Given the description of an element on the screen output the (x, y) to click on. 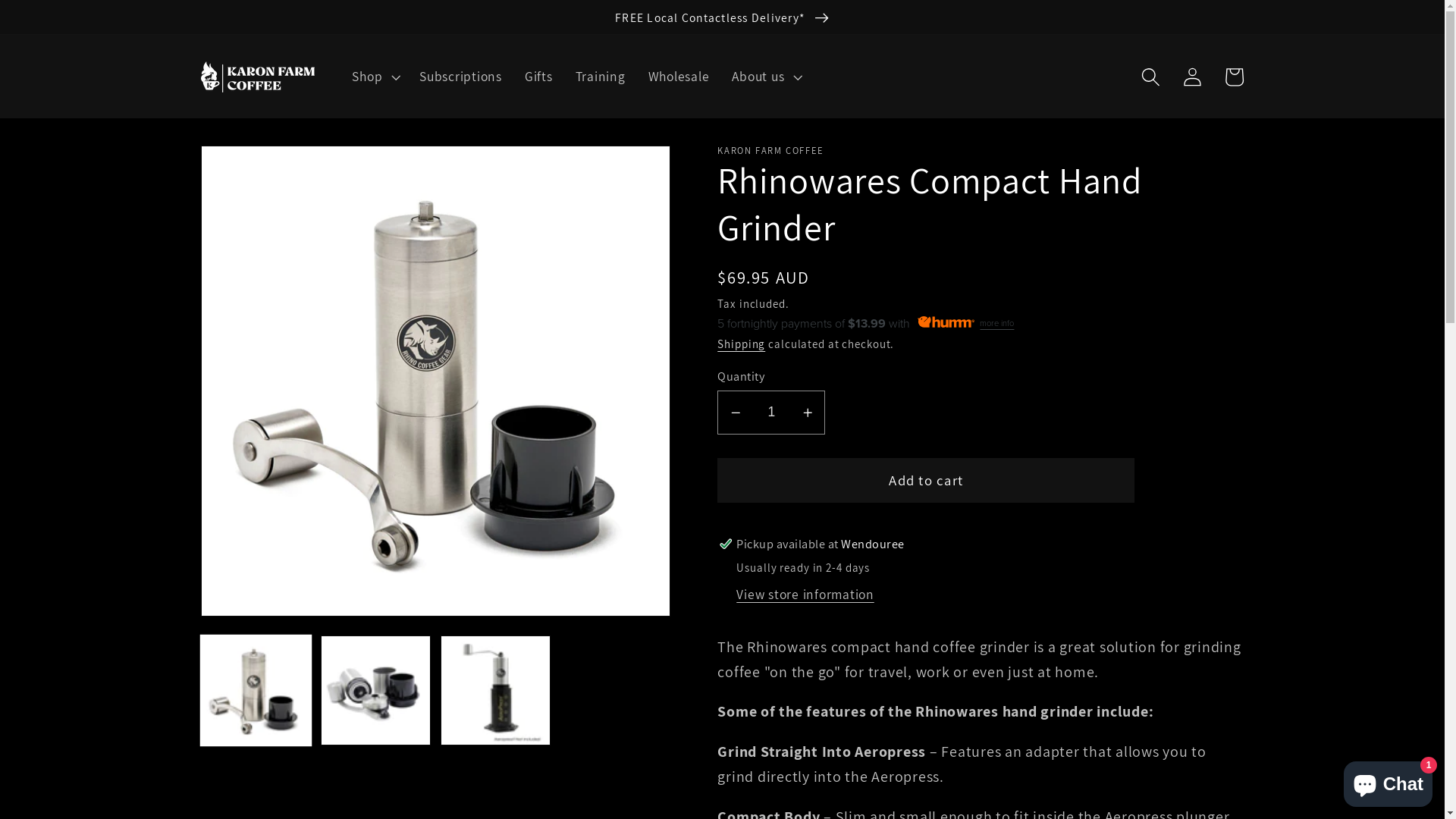
Shipping Element type: text (741, 343)
Decrease quantity for Rhinowares Compact Hand Grinder Element type: text (735, 412)
Gifts Element type: text (538, 76)
Log in Element type: text (1192, 76)
Wholesale Element type: text (679, 76)
Add to cart Element type: text (925, 480)
5 fortnightly payments of $13.99 with more info Element type: text (980, 323)
Cart Element type: text (1234, 76)
Increase quantity for Rhinowares Compact Hand Grinder Element type: text (807, 412)
Shopify online store chat Element type: hover (1388, 780)
View store information Element type: text (805, 595)
FREE Local Contactless Delivery* Element type: text (722, 17)
Training Element type: text (600, 76)
Skip to product information Element type: text (257, 166)
Subscriptions Element type: text (460, 76)
